Given the description of an element on the screen output the (x, y) to click on. 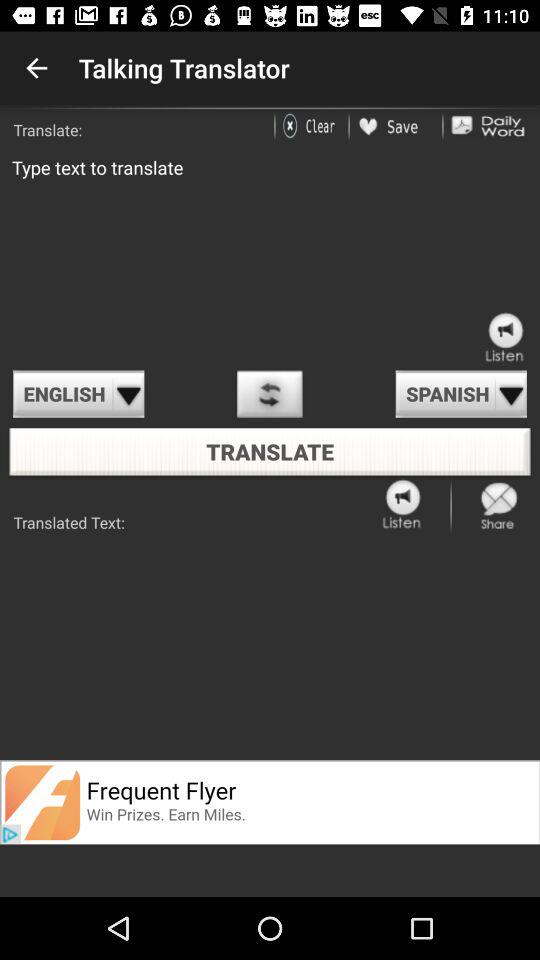
delete text on typing box (311, 125)
